Given the description of an element on the screen output the (x, y) to click on. 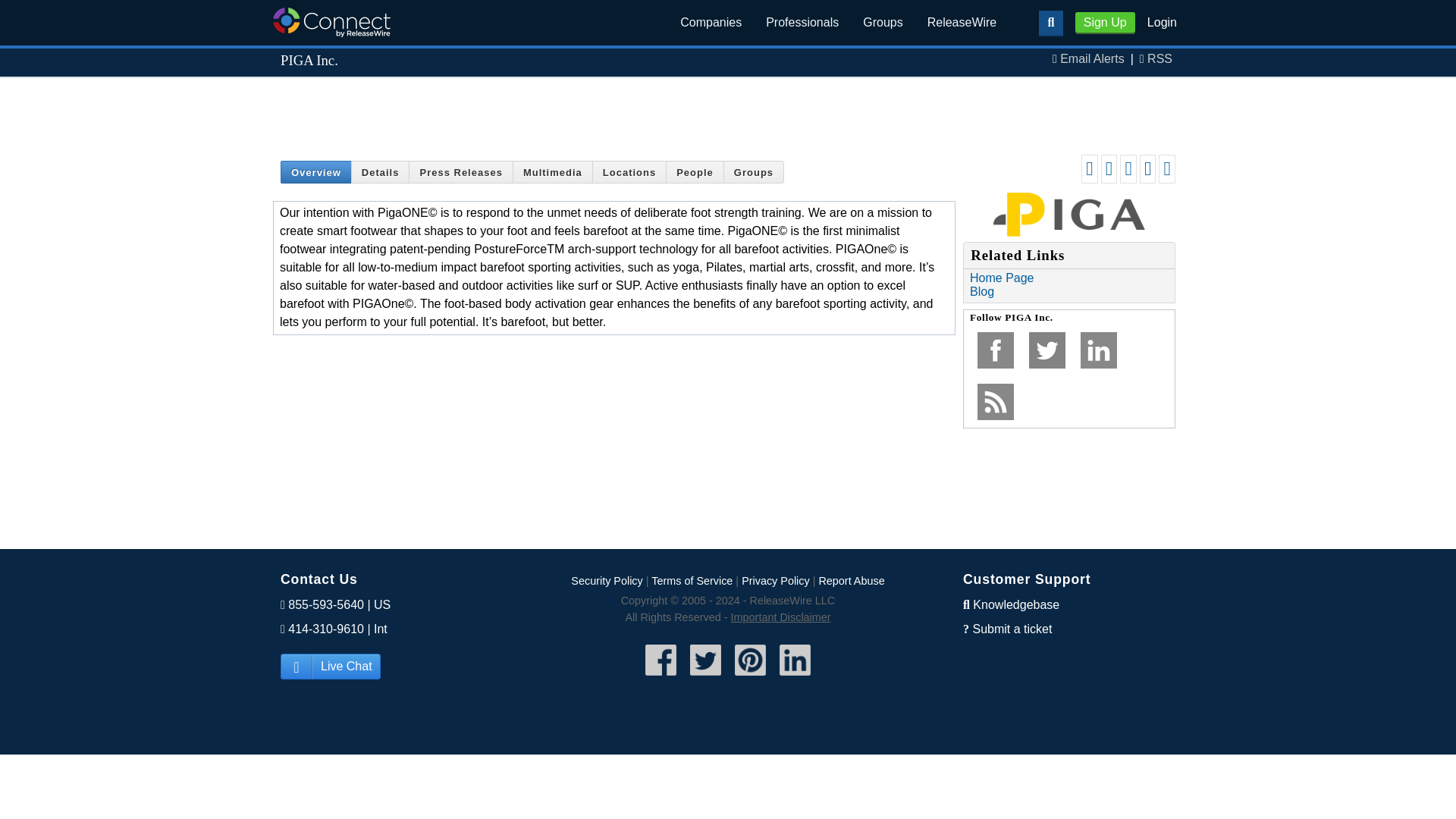
855-593-5640 (326, 604)
Blog (981, 291)
ReleaseWire Connect (331, 21)
Follow ReleaseWire on LinkedIn (794, 676)
Find ReleaseWire on Facebook (660, 676)
Advertisement (727, 500)
Live Chat (330, 666)
Follow ReleaseWire on Twitter (705, 676)
Professionals (802, 22)
Advertisement (727, 111)
Security Policy (606, 580)
Important Disclaimer (780, 616)
People (694, 171)
Terms of Service (691, 580)
Details (380, 171)
